Given the description of an element on the screen output the (x, y) to click on. 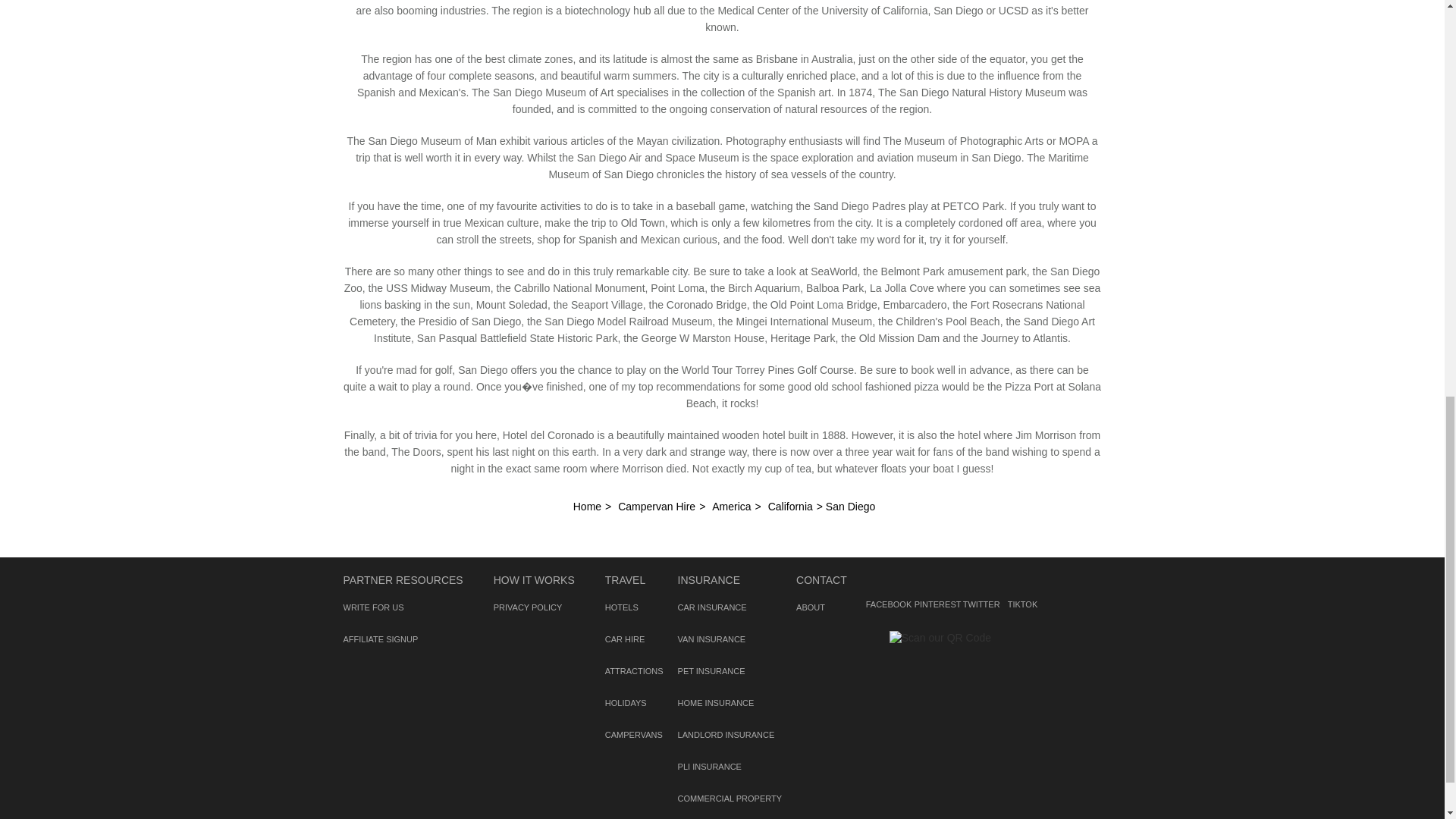
COMMERCIAL PROPERTY (730, 798)
PET INSURANCE (711, 670)
ABOUT (810, 606)
CAR INSURANCE (712, 606)
PLI INSURANCE (709, 766)
TWITTER (976, 584)
Campervan Hire (656, 506)
ATTRACTIONS (634, 670)
CAR HIRE (625, 638)
LANDLORD INSURANCE (726, 734)
America (730, 506)
WRITE FOR US (372, 606)
HOME INSURANCE (716, 702)
AFFILIATE SIGNUP (379, 638)
HOTELS (622, 606)
